Given the description of an element on the screen output the (x, y) to click on. 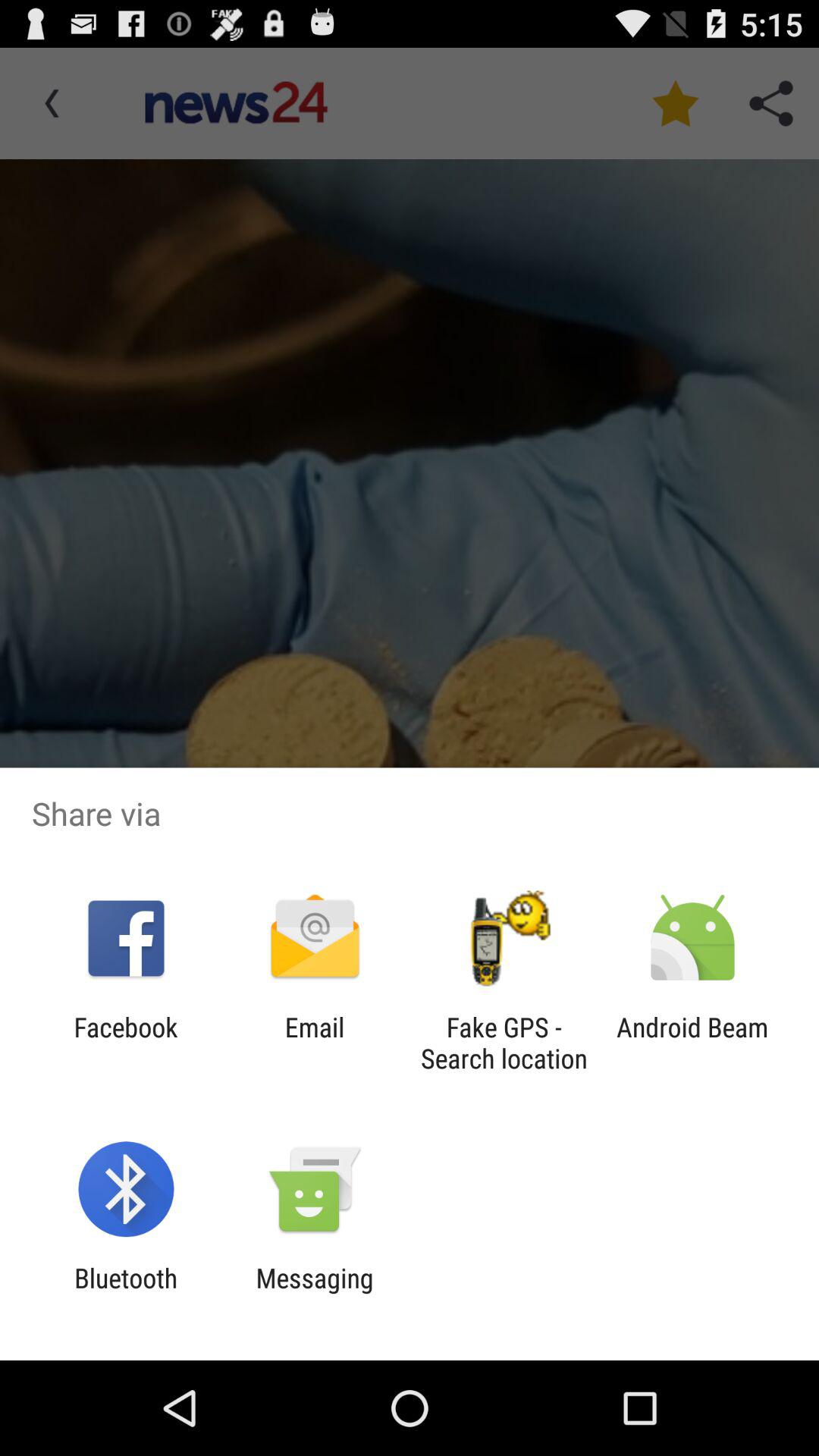
turn on the item next to the android beam app (503, 1042)
